Given the description of an element on the screen output the (x, y) to click on. 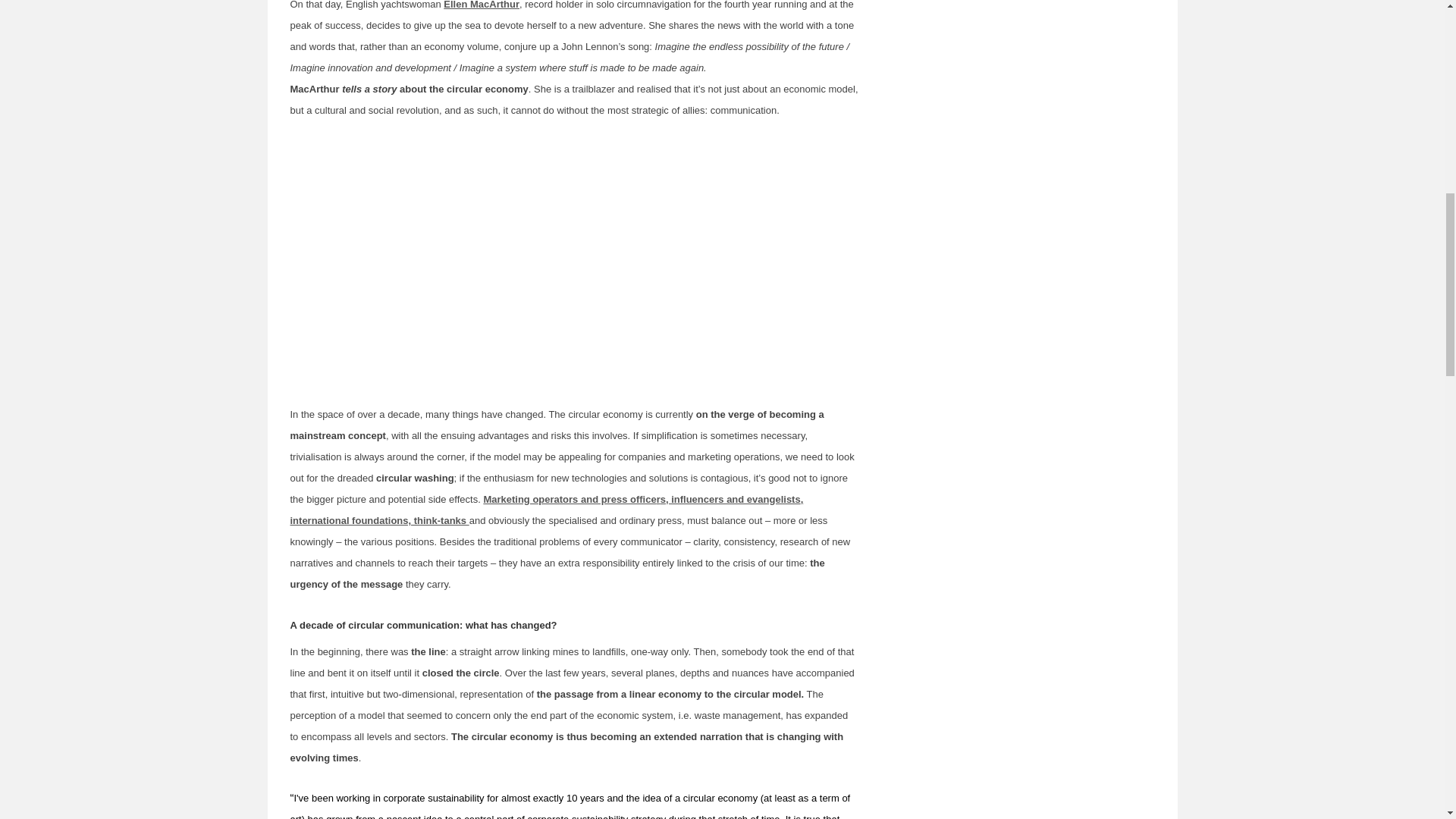
YouTube video player (574, 258)
Ellen MacArthur (481, 4)
, international foundations, think-tanks (546, 509)
